Given the description of an element on the screen output the (x, y) to click on. 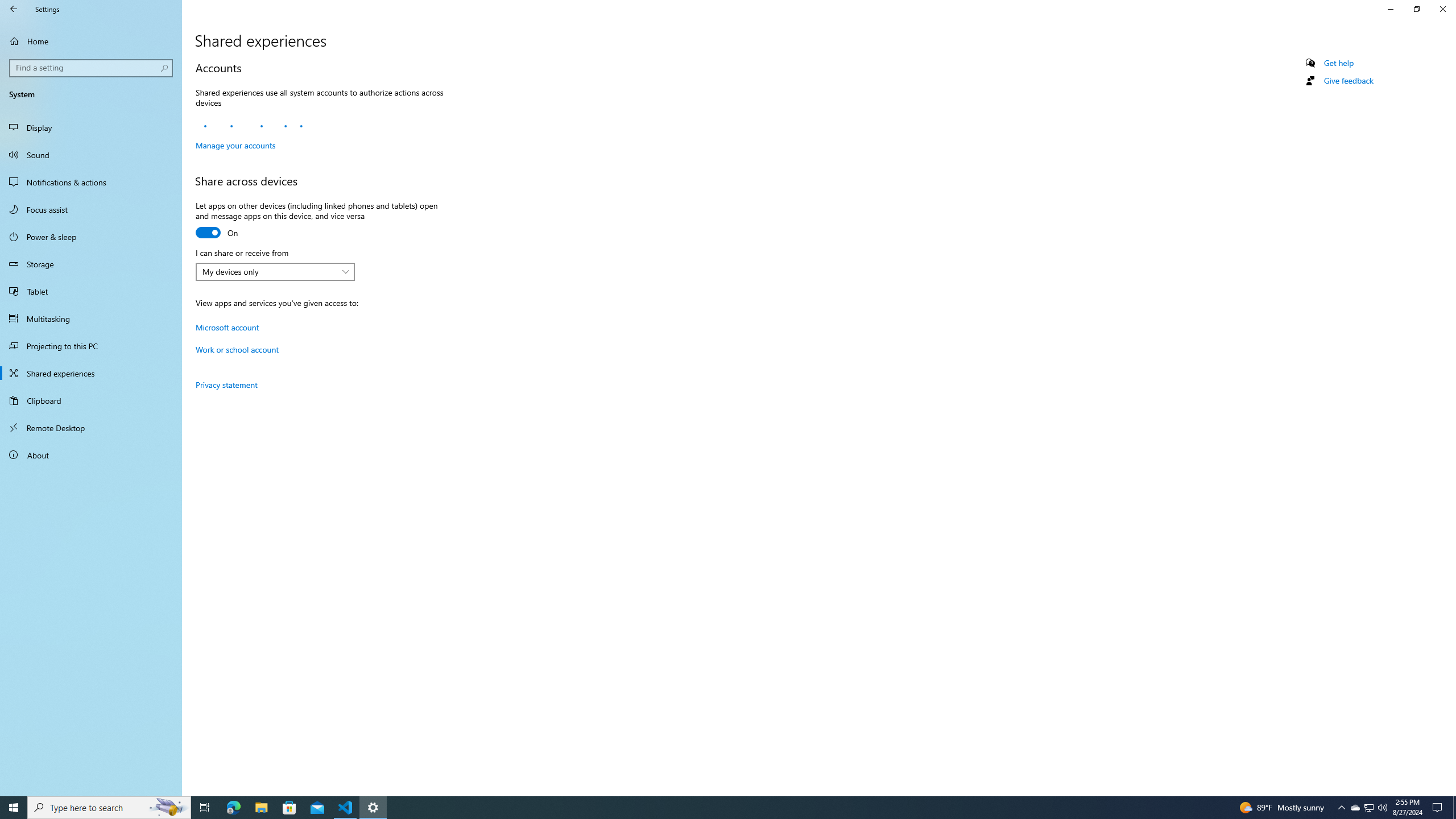
Search box, Find a setting (91, 67)
Shared experiences (91, 372)
Microsoft Store (289, 807)
Projecting to this PC (91, 345)
Get help (1338, 62)
Work or school account (237, 348)
Display (91, 126)
I can share or receive from (275, 271)
Give feedback (1348, 80)
My devices only (269, 271)
Q2790: 100% (1382, 807)
User Promoted Notification Area (1368, 807)
Task View (204, 807)
